Given the description of an element on the screen output the (x, y) to click on. 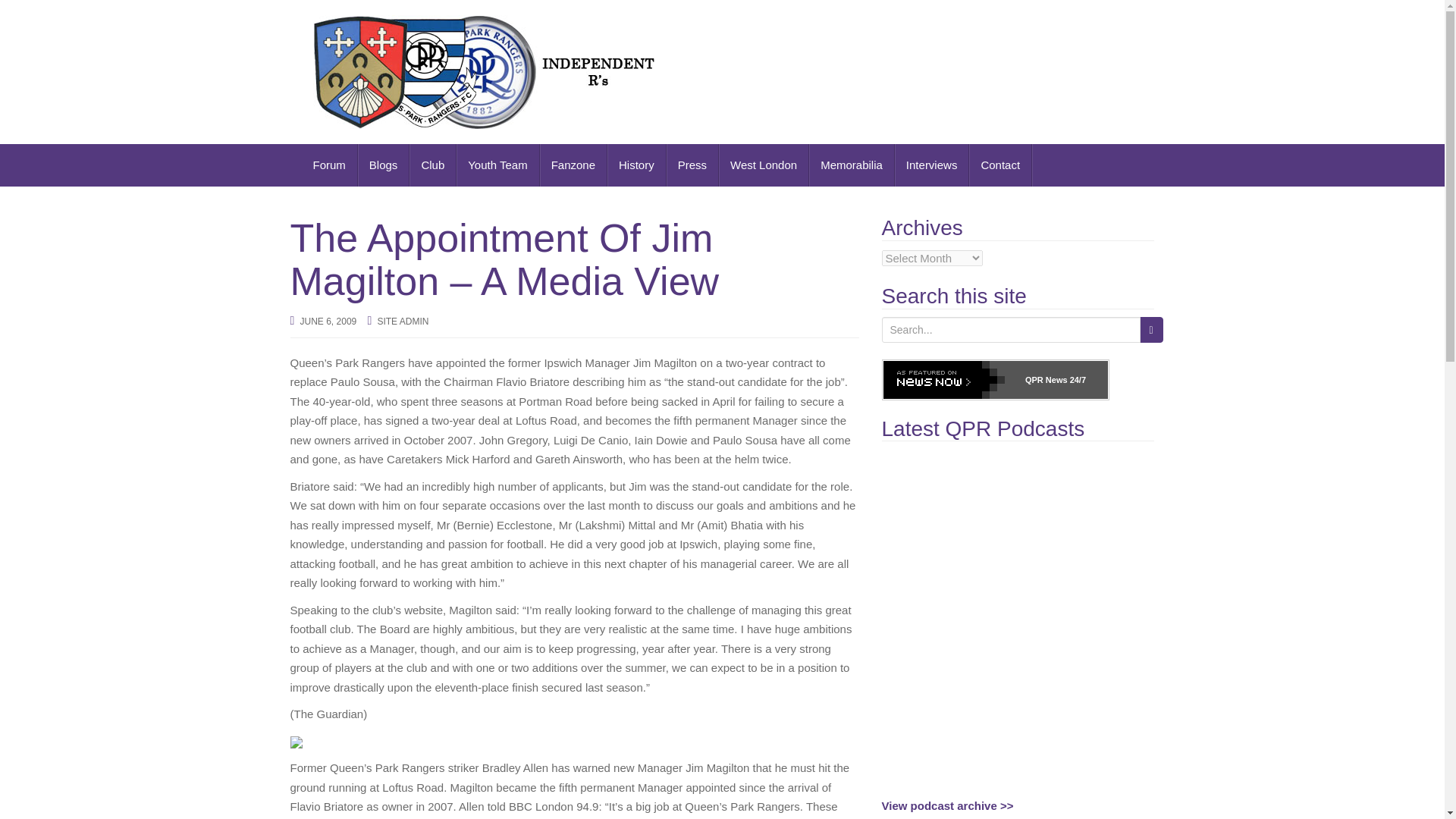
Fanzone (573, 165)
Memorabilia (852, 165)
JUNE 6, 2009 (327, 321)
Click here for more QPR news from NewsNow (994, 379)
History (636, 165)
Forum (329, 165)
Contact (1000, 165)
Memorabilia (852, 165)
Contact (1000, 165)
Interviews (932, 165)
